Given the description of an element on the screen output the (x, y) to click on. 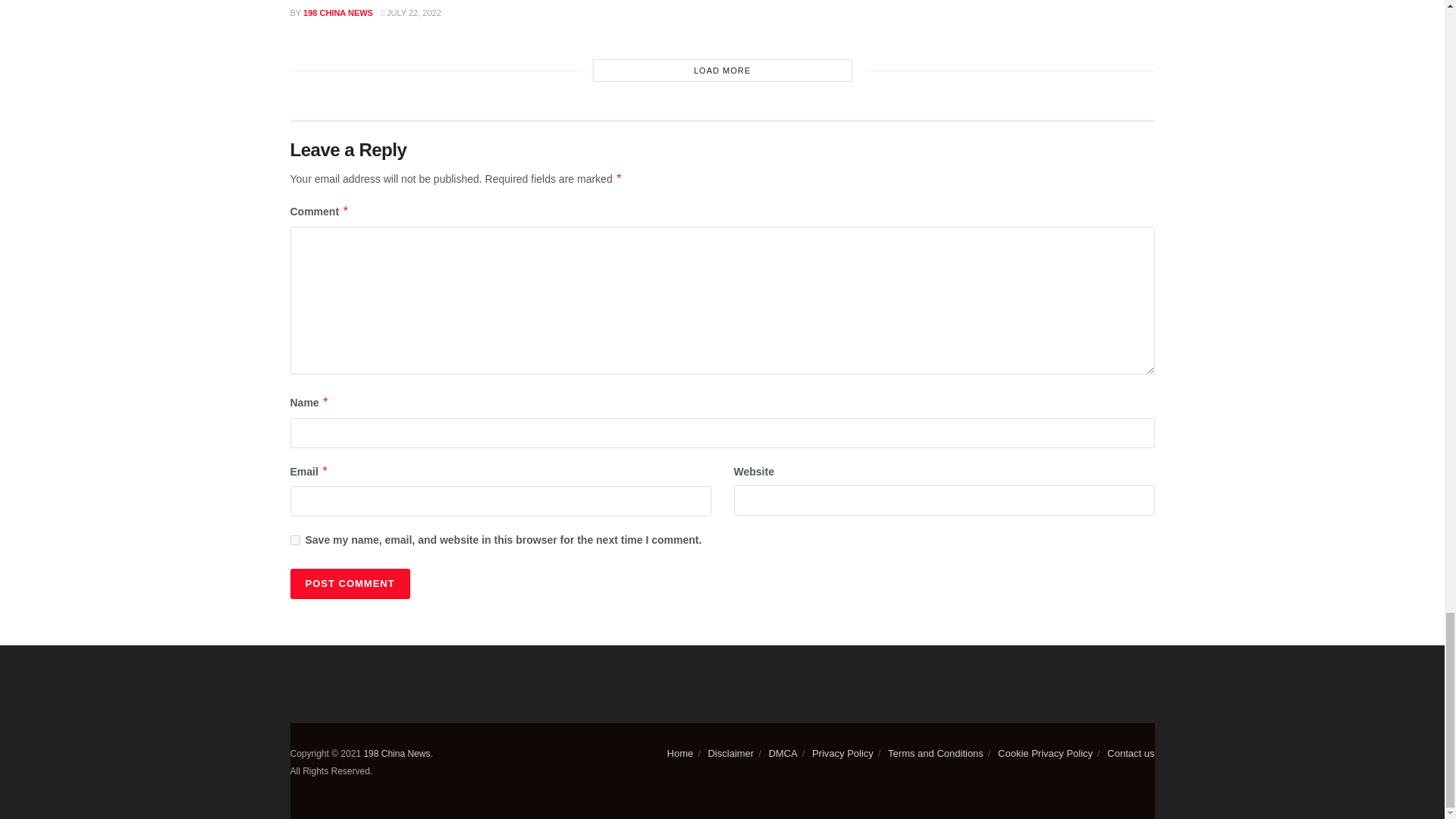
yes (294, 540)
198 China News (395, 753)
Post Comment (349, 583)
